Given the description of an element on the screen output the (x, y) to click on. 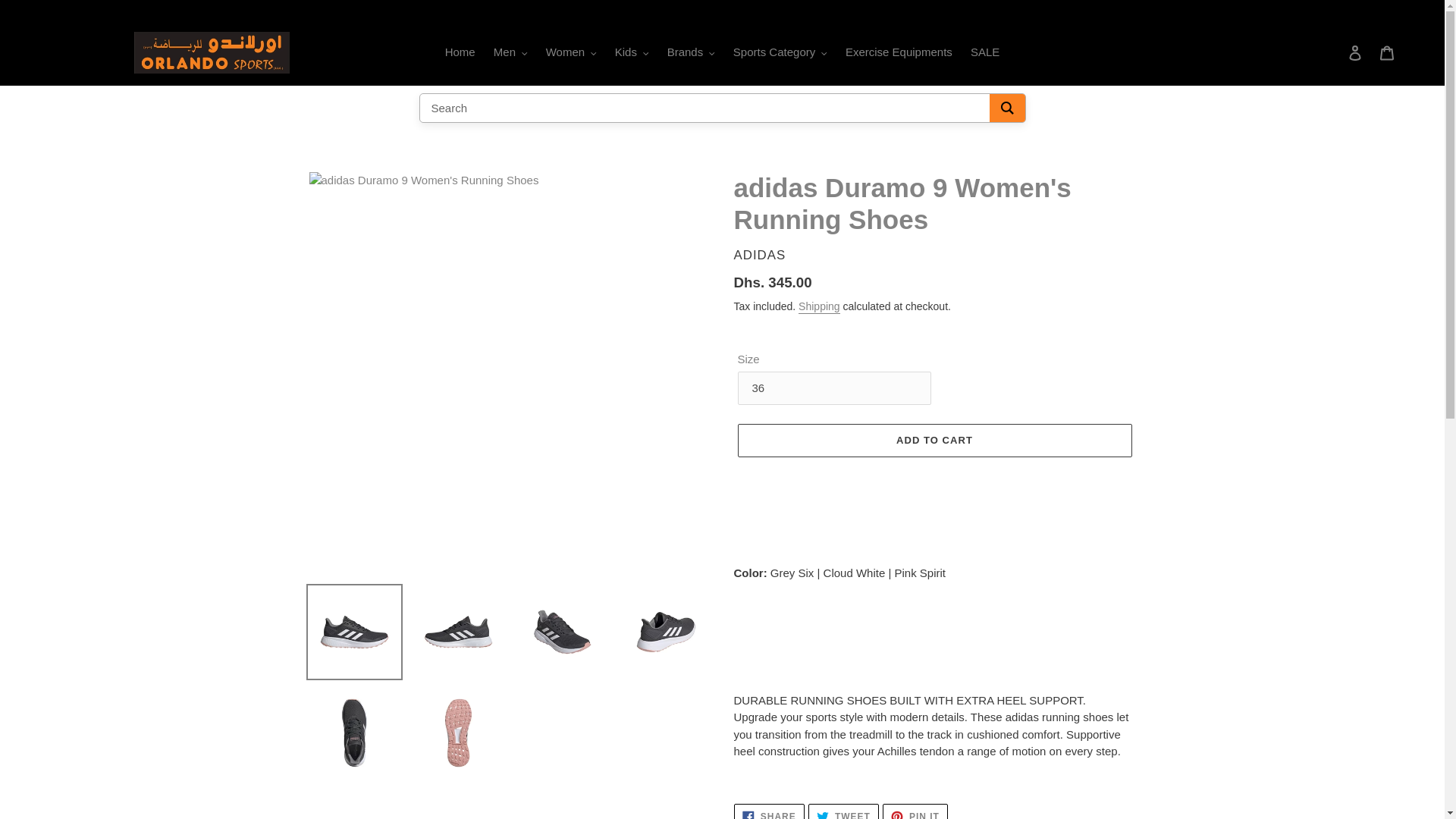
Kids (631, 52)
Men (510, 52)
Home (460, 52)
Women (571, 52)
Brands (690, 52)
